Given the description of an element on the screen output the (x, y) to click on. 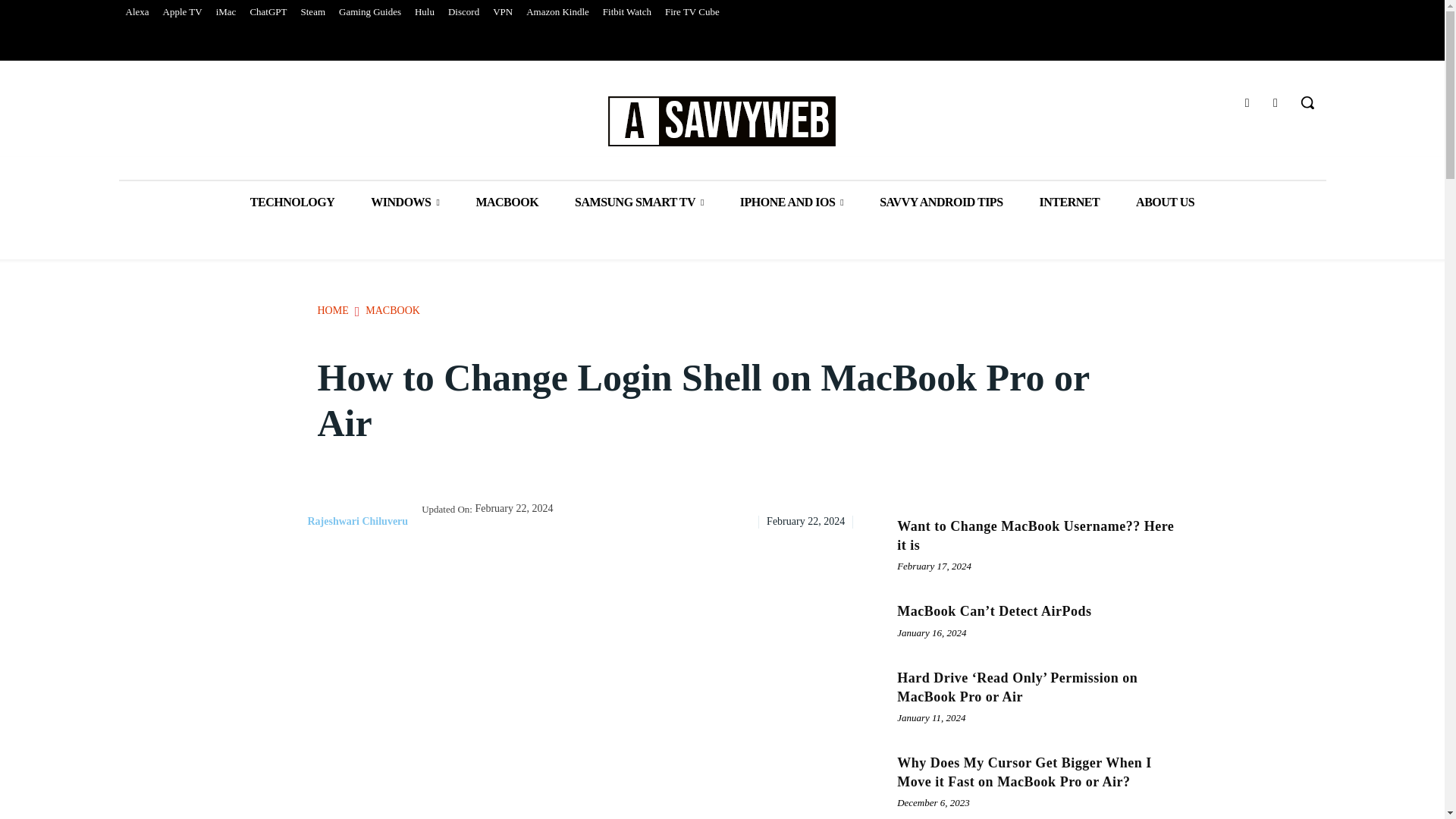
Rajeshwari Chiluveru (286, 521)
Discord (463, 12)
Facebook (1246, 102)
Steam (313, 12)
iMac (226, 12)
Amazon Kindle (557, 12)
Fire TV Cube (692, 12)
Hulu (424, 12)
A Savvy Web (721, 121)
Fitbit Watch (626, 12)
